Given the description of an element on the screen output the (x, y) to click on. 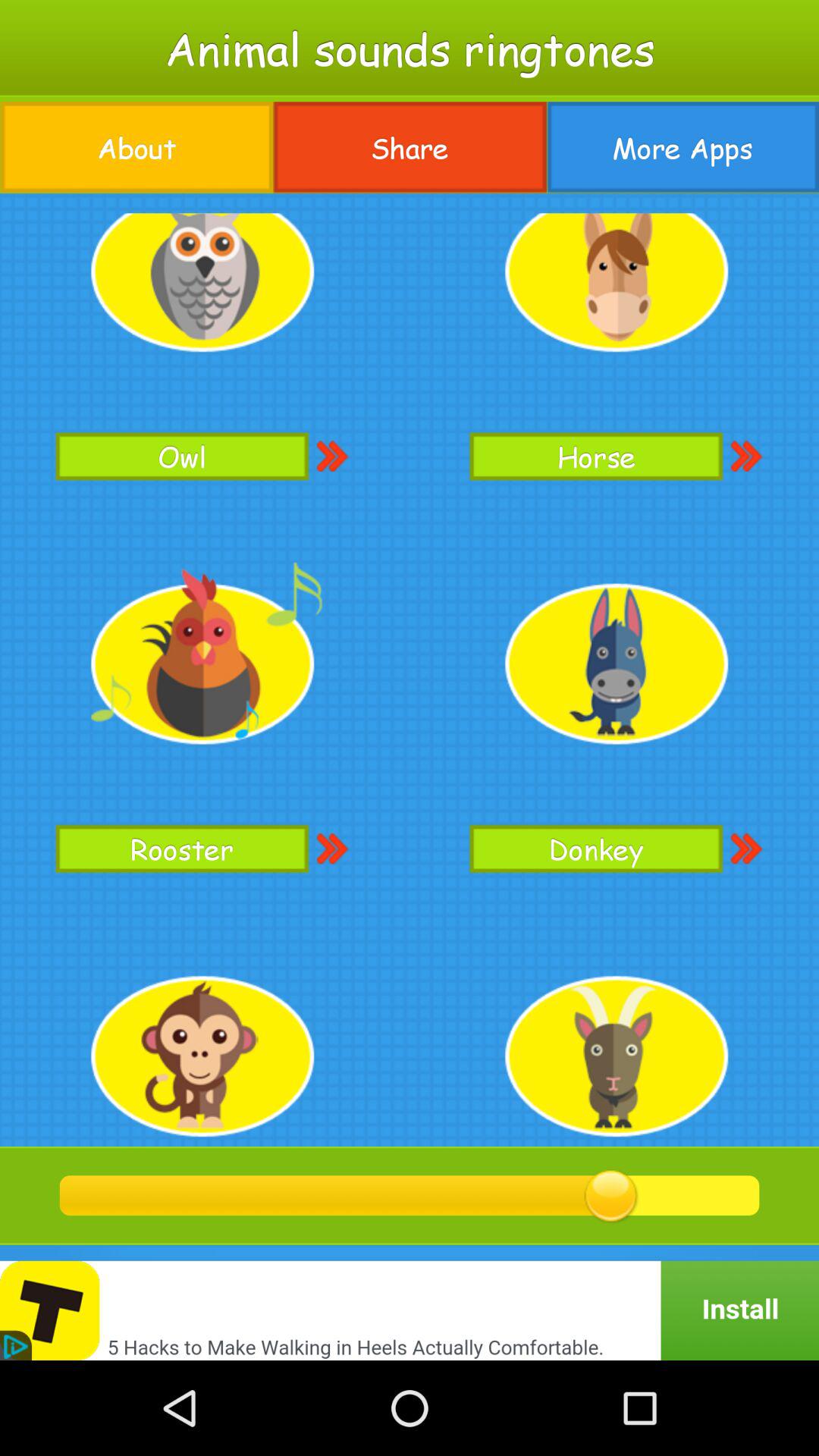
open the icon at the top right corner (682, 147)
